Given the description of an element on the screen output the (x, y) to click on. 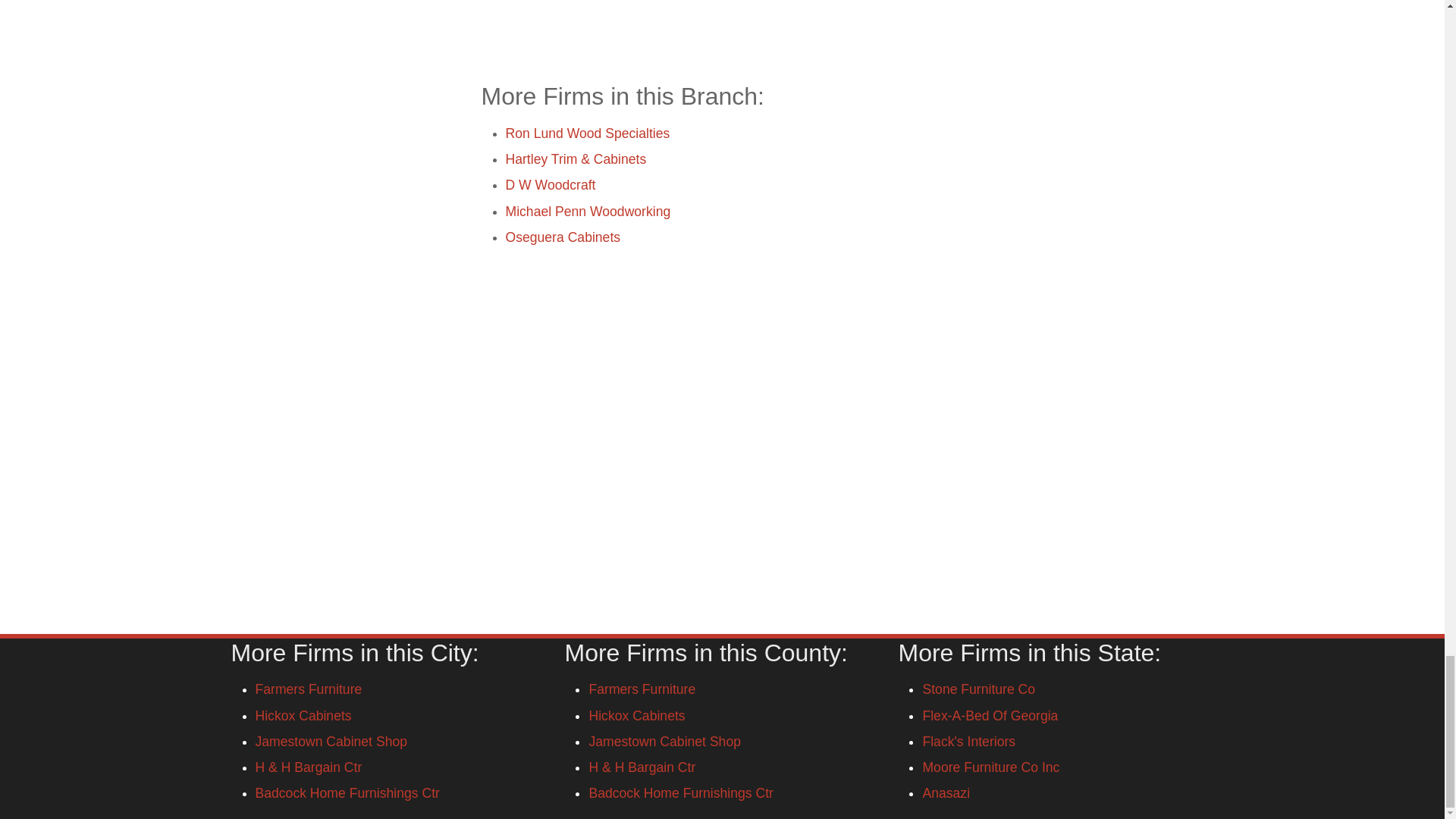
Michael Penn Woodworking (587, 211)
D W Woodcraft (550, 184)
Oseguera Cabinets (562, 237)
Ron Lund Wood Specialties (587, 133)
